Given the description of an element on the screen output the (x, y) to click on. 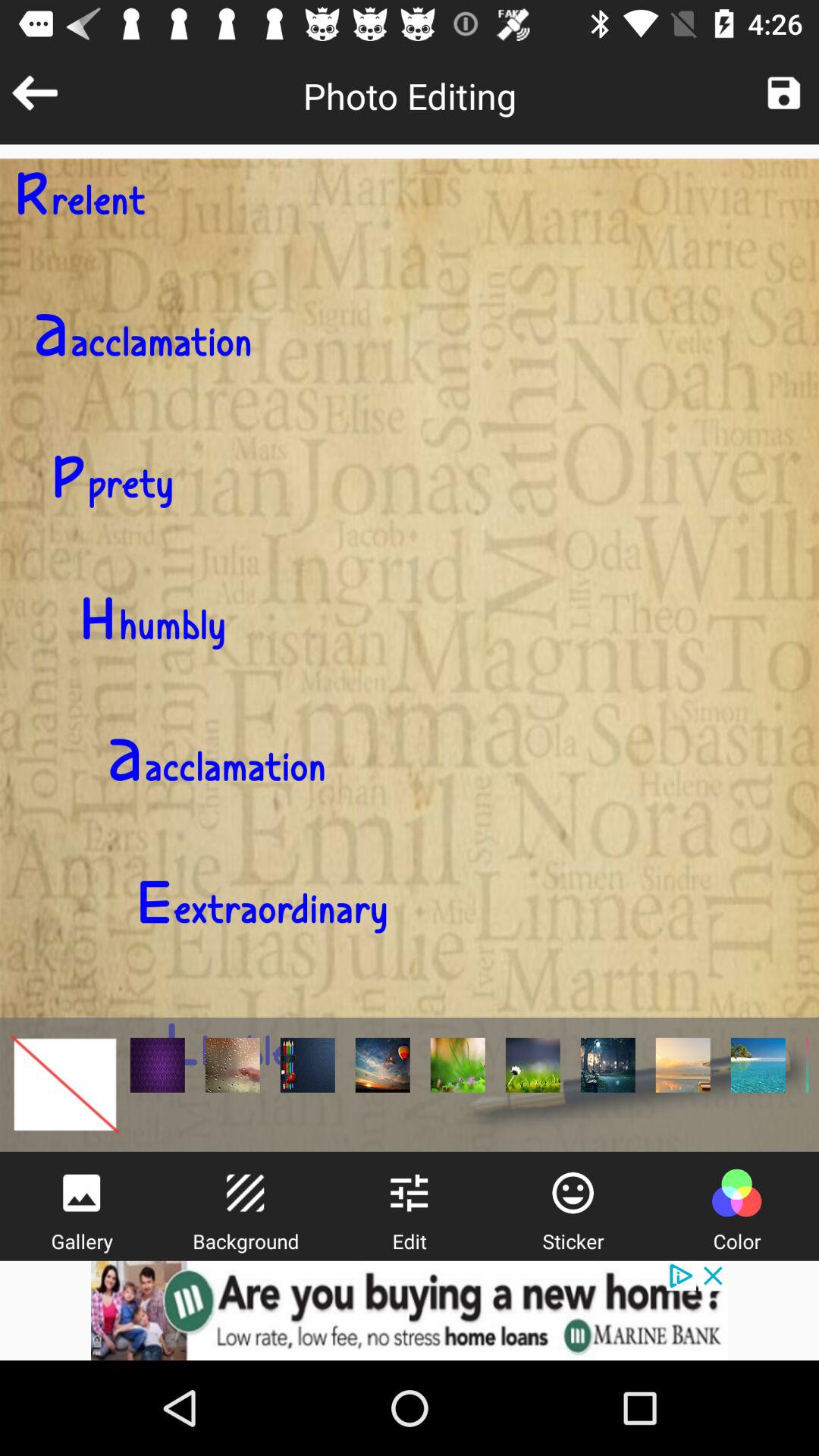
the sixth image from the right side of the page below eextraordinary (382, 1064)
